Given the description of an element on the screen output the (x, y) to click on. 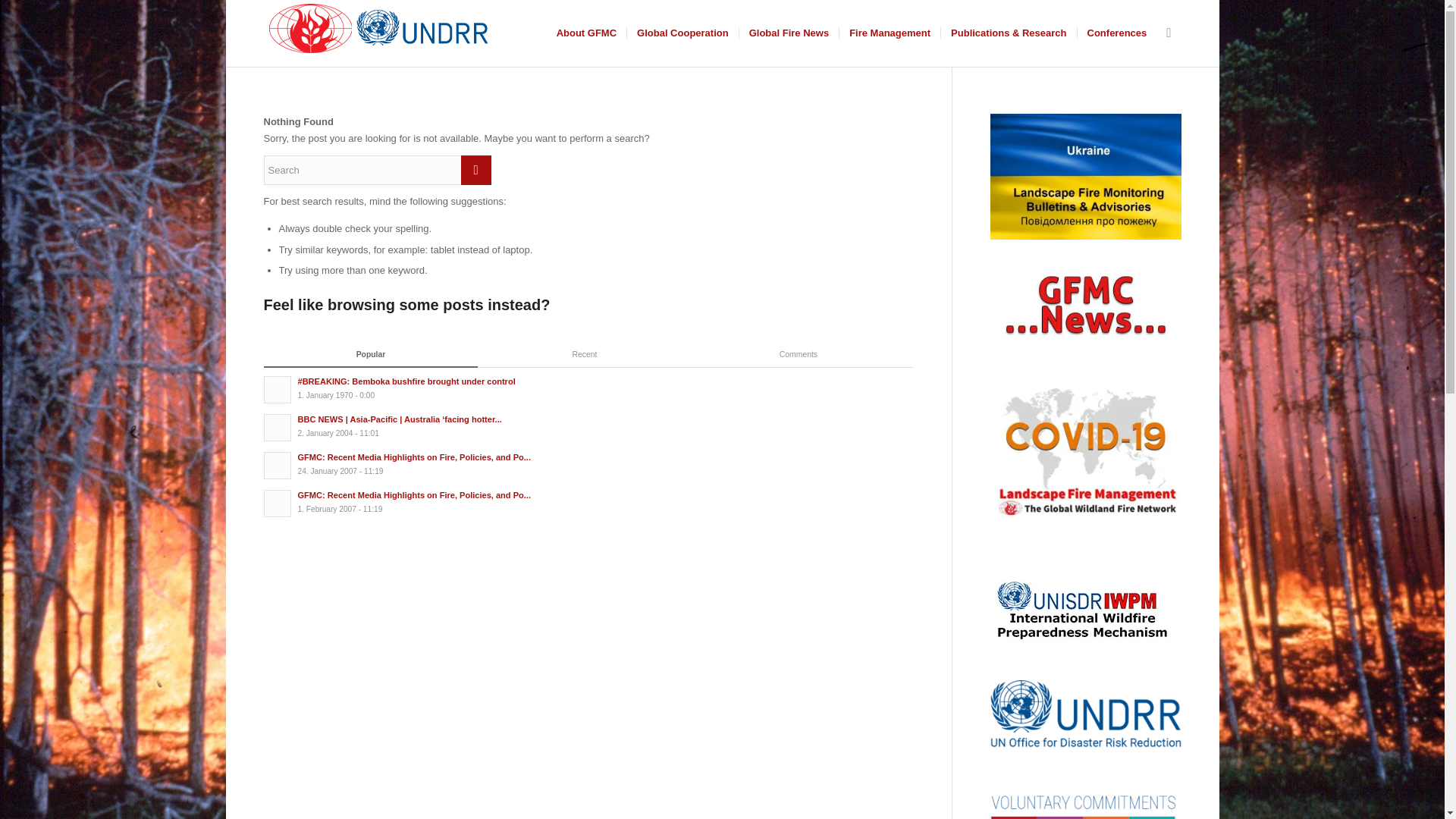
Global Cooperation (682, 33)
About GFMC (586, 33)
